Given the description of an element on the screen output the (x, y) to click on. 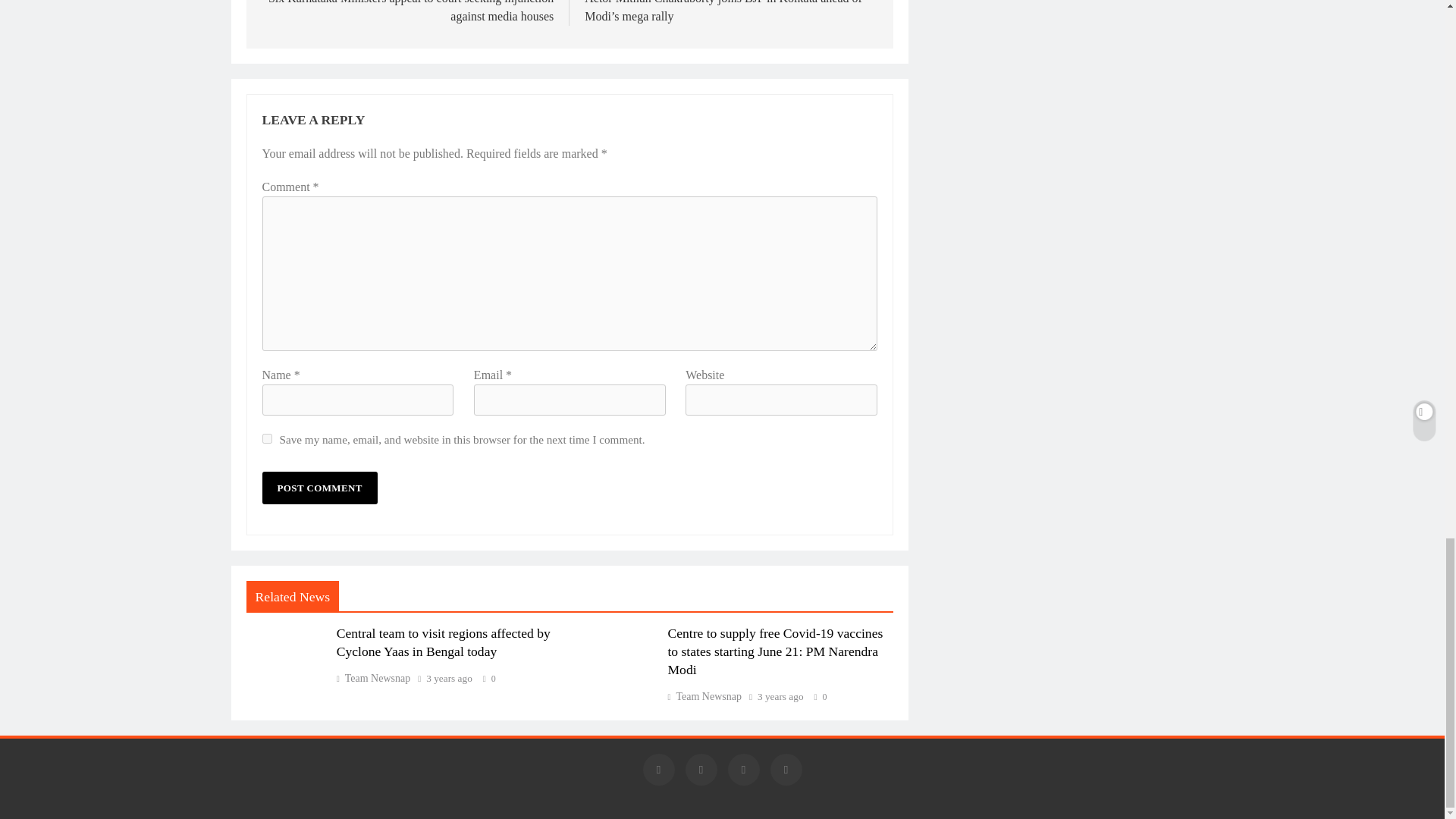
3 years ago (448, 678)
3 years ago (780, 696)
Post Comment (319, 487)
Team Newsnap (373, 677)
yes (267, 438)
Team Newsnap (703, 696)
Post Comment (319, 487)
